Given the description of an element on the screen output the (x, y) to click on. 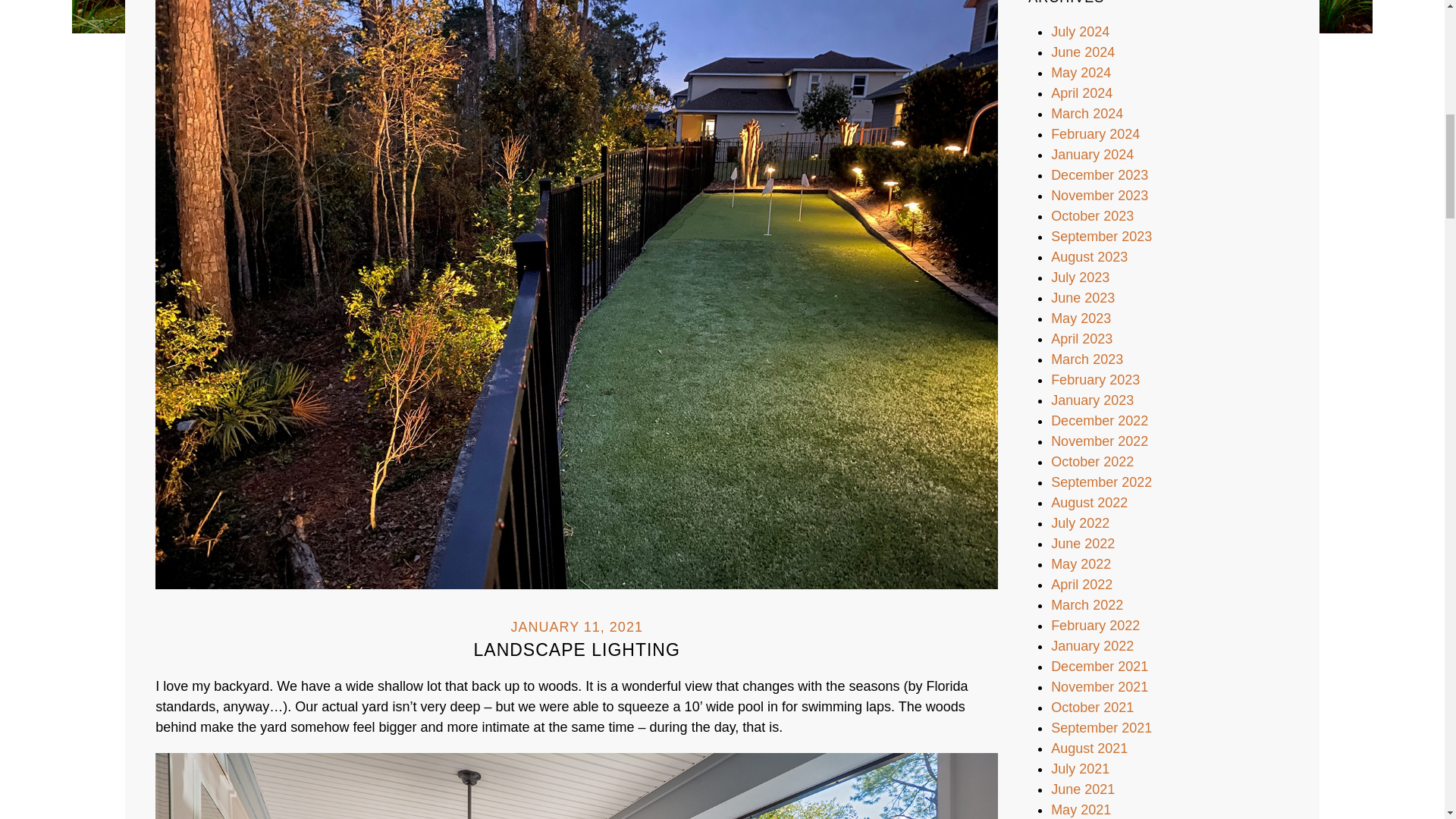
July 2024 (1080, 31)
Landscape Lighting (576, 288)
